Given the description of an element on the screen output the (x, y) to click on. 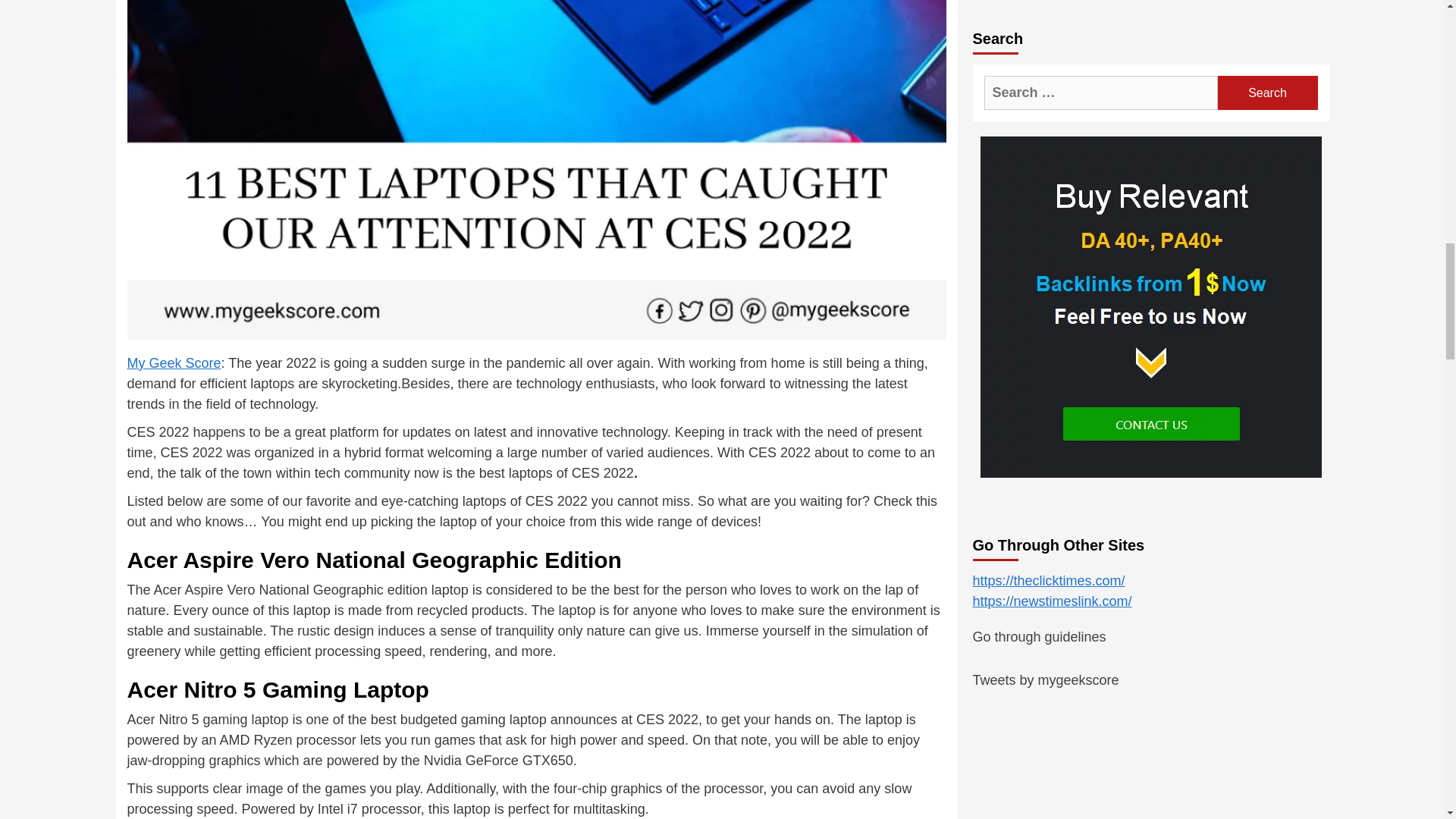
My Geek Score (174, 363)
